Given the description of an element on the screen output the (x, y) to click on. 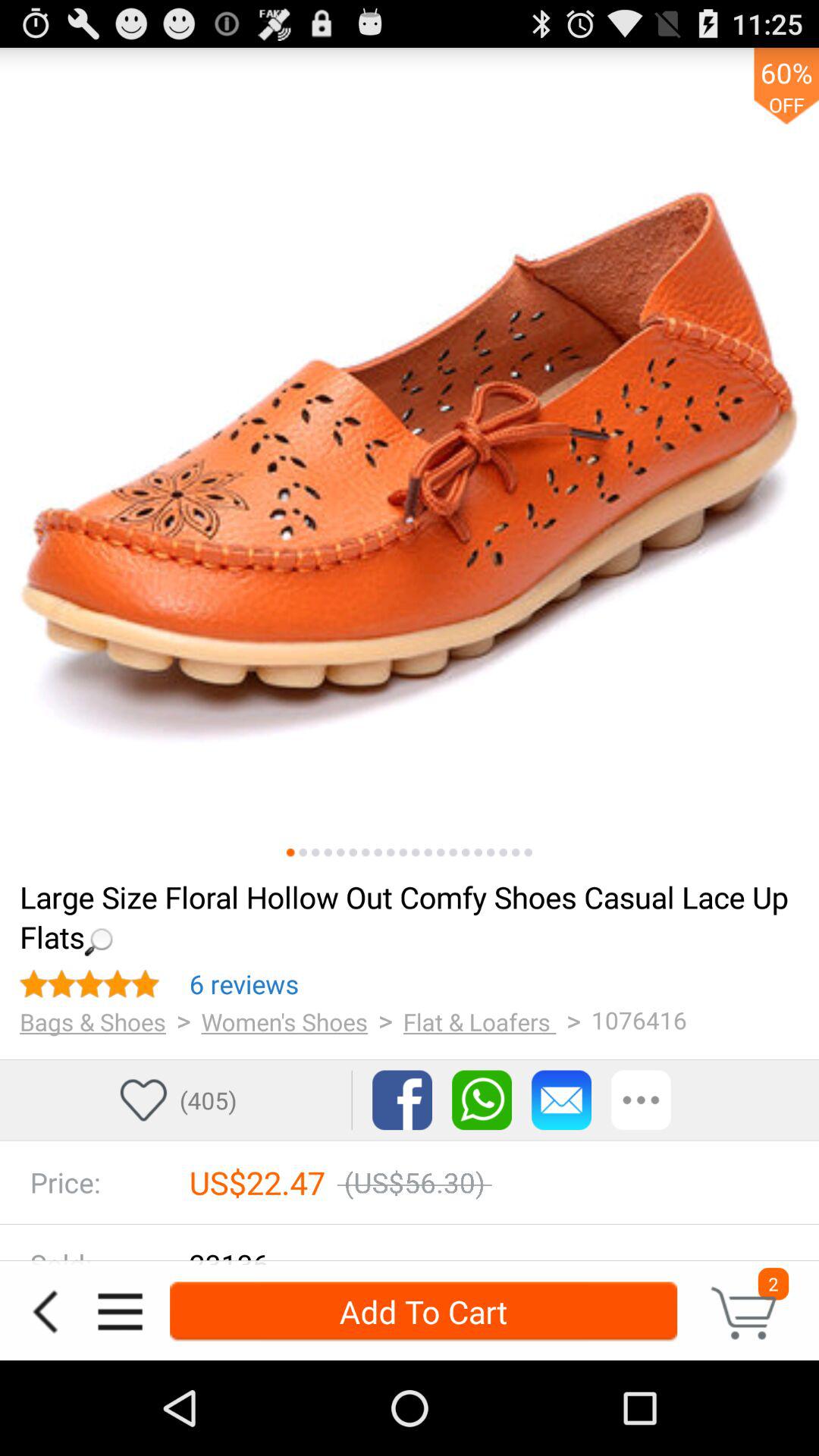
go to third screen go to screen three (315, 852)
